Given the description of an element on the screen output the (x, y) to click on. 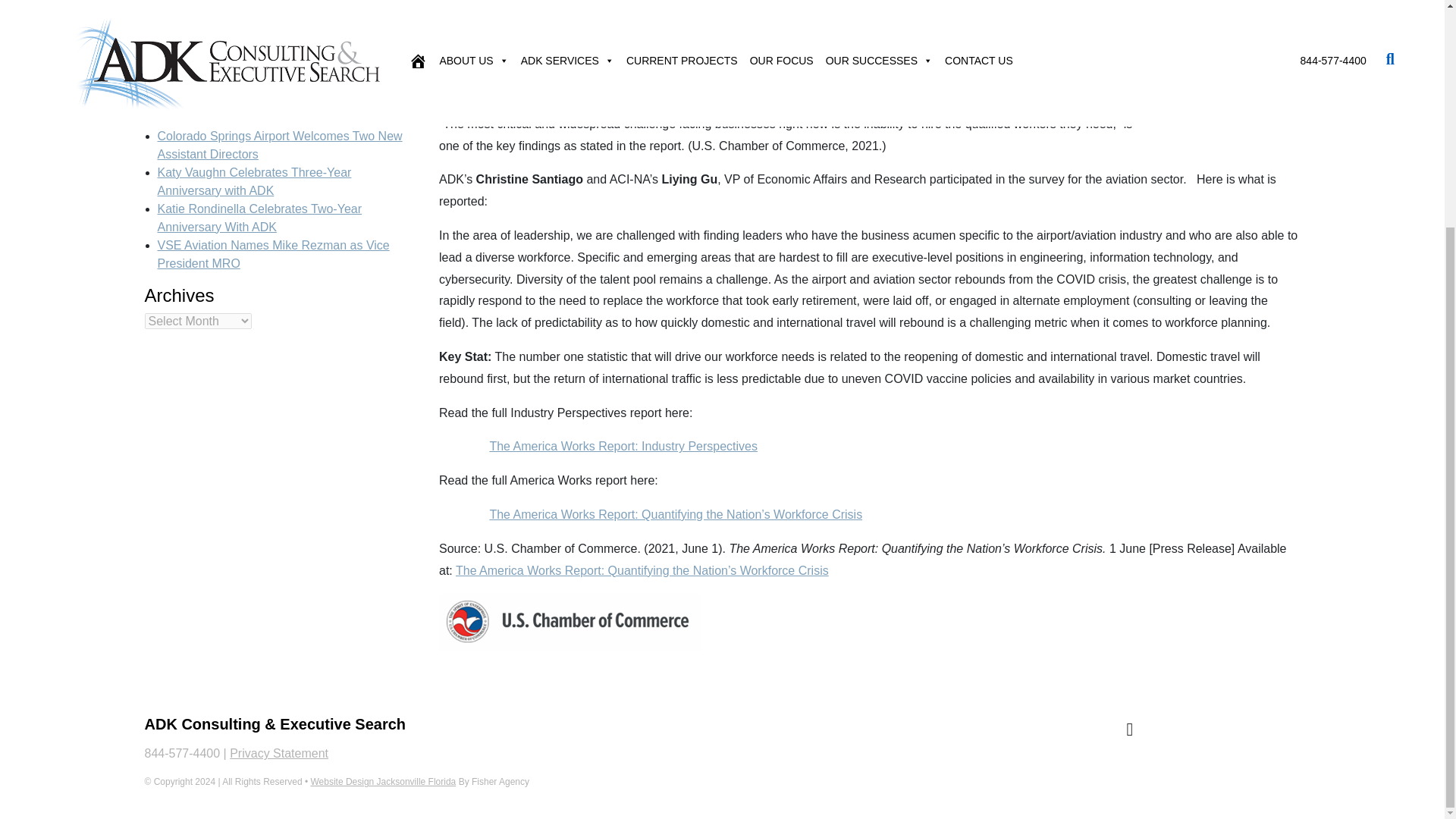
In the News (189, 23)
The America Works Report: Industry Perspectives (623, 445)
The America (491, 570)
Privacy Statement (279, 753)
Katie Rondinella Celebrates Two-Year Anniversary With ADK (259, 217)
VSE Aviation Names Mike Rezman as Vice President MRO (273, 254)
Website Design Jacksonville Florida (382, 781)
Consulting Projects (209, 6)
Katy Vaughn Celebrates Three-Year Anniversary with ADK (254, 181)
